Given the description of an element on the screen output the (x, y) to click on. 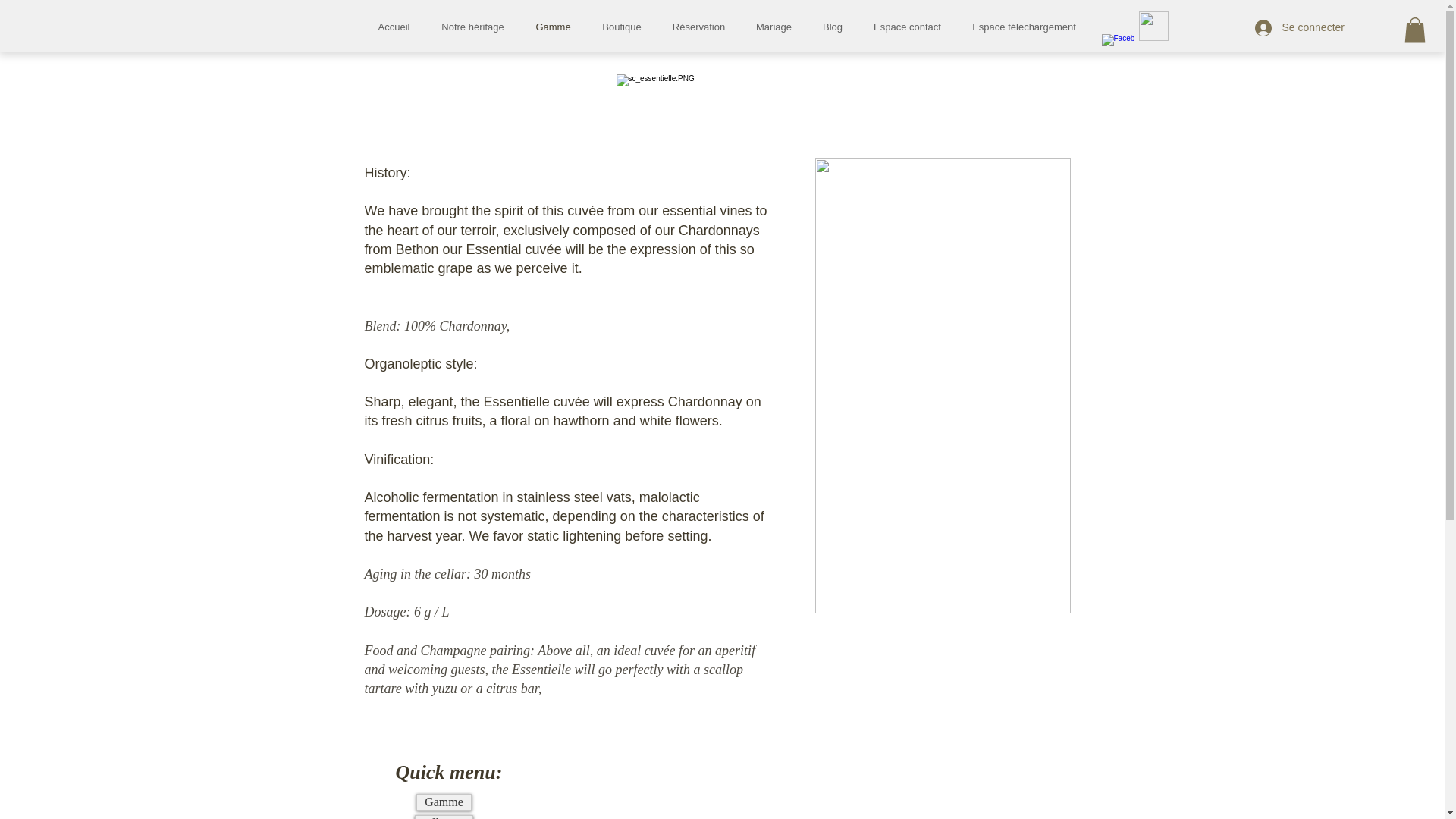
Blog (831, 26)
Boutique (622, 26)
Gamme (443, 801)
Gamme (552, 26)
Se connecter (1299, 27)
Alliance (442, 817)
Accueil (394, 26)
Espace contact (907, 26)
Mariage (772, 26)
